Given the description of an element on the screen output the (x, y) to click on. 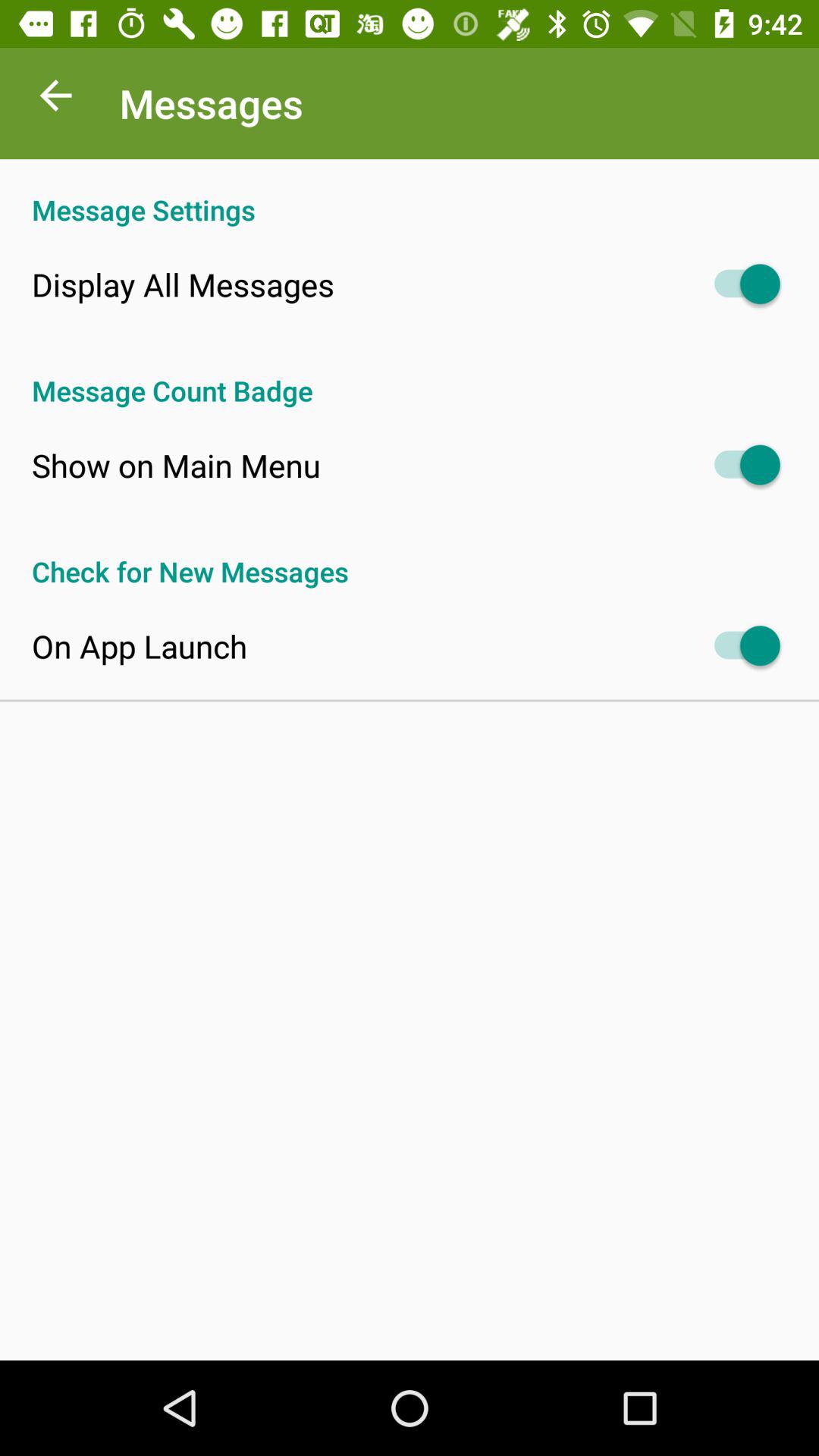
tap show on main icon (175, 464)
